Given the description of an element on the screen output the (x, y) to click on. 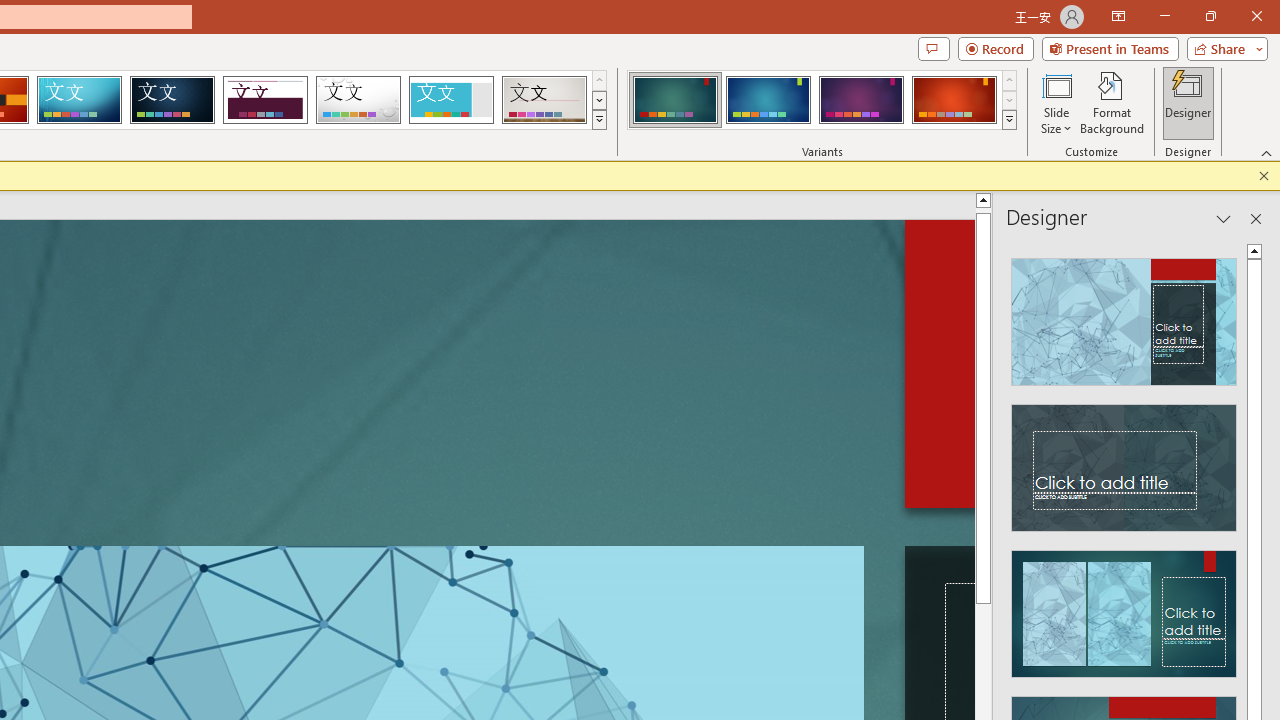
Ion Variant 1 (674, 100)
Damask (171, 100)
